Given the description of an element on the screen output the (x, y) to click on. 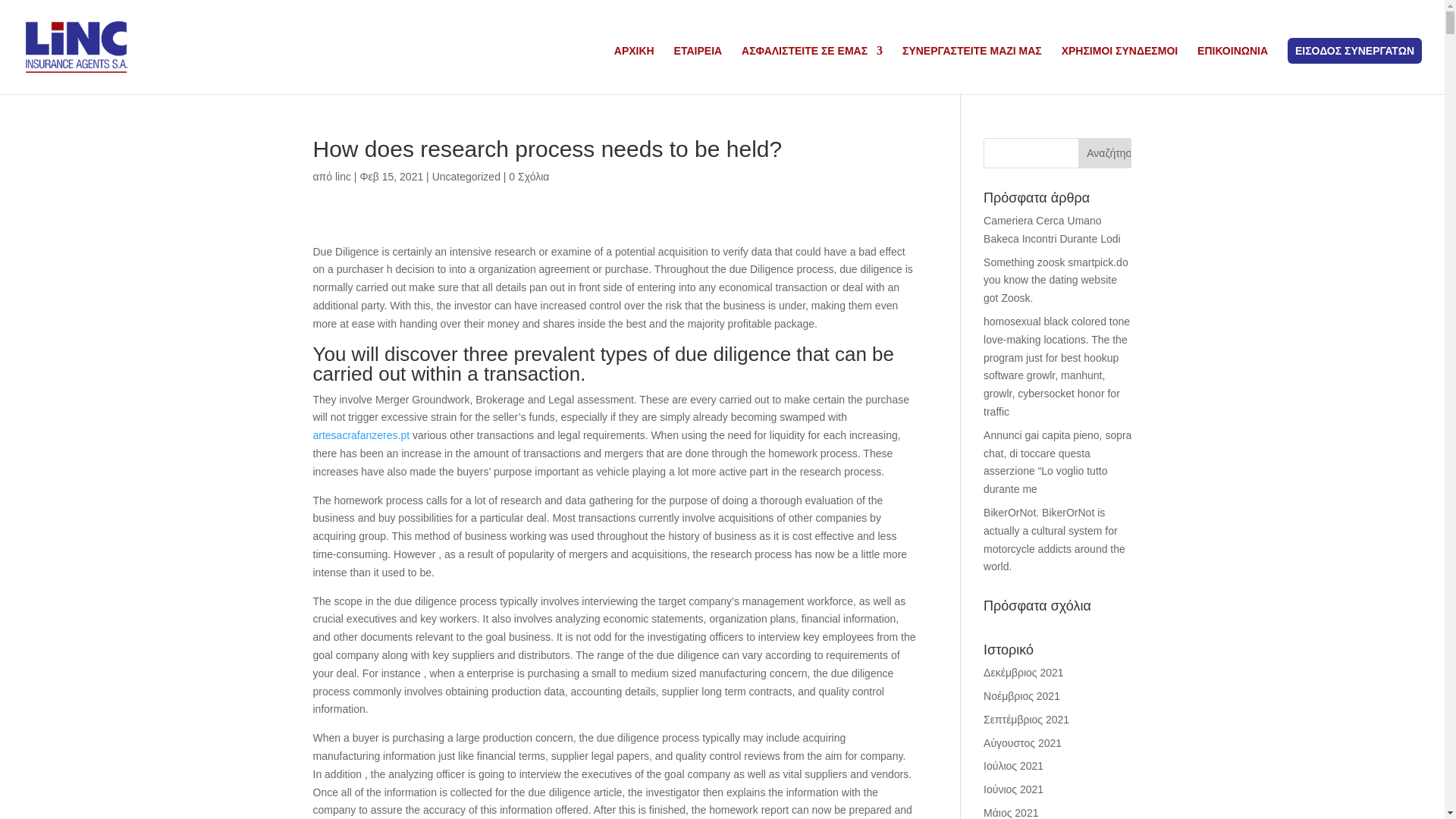
linc (342, 176)
Uncategorized (466, 176)
Cameriera Cerca Umano Bakeca Incontri Durante Lodi (1052, 229)
artesacrafanzeres.pt (361, 435)
